Given the description of an element on the screen output the (x, y) to click on. 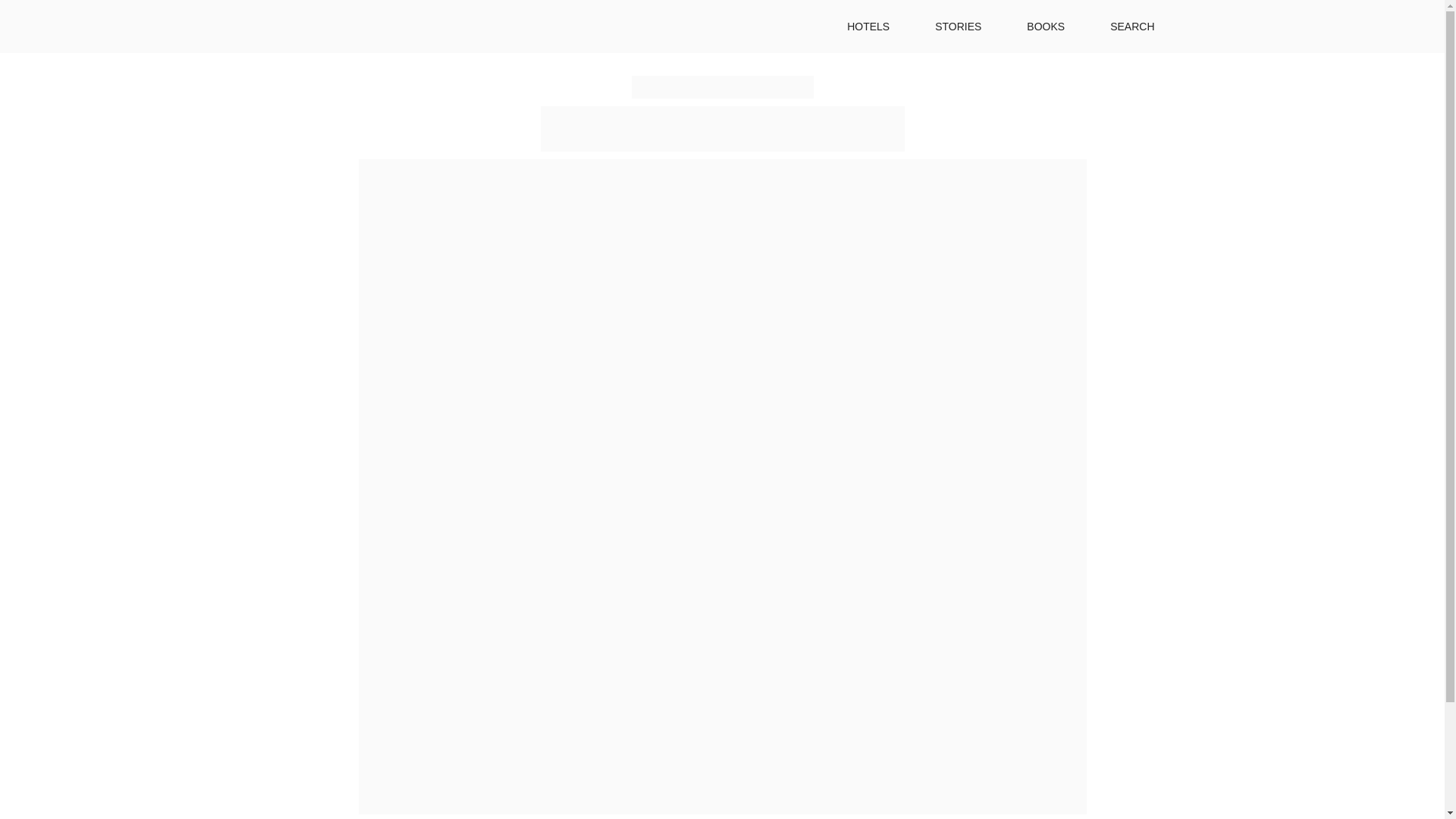
SEARCH (1131, 26)
HOTELS (868, 26)
BOOKS (1045, 26)
STORIES (957, 26)
